Given the description of an element on the screen output the (x, y) to click on. 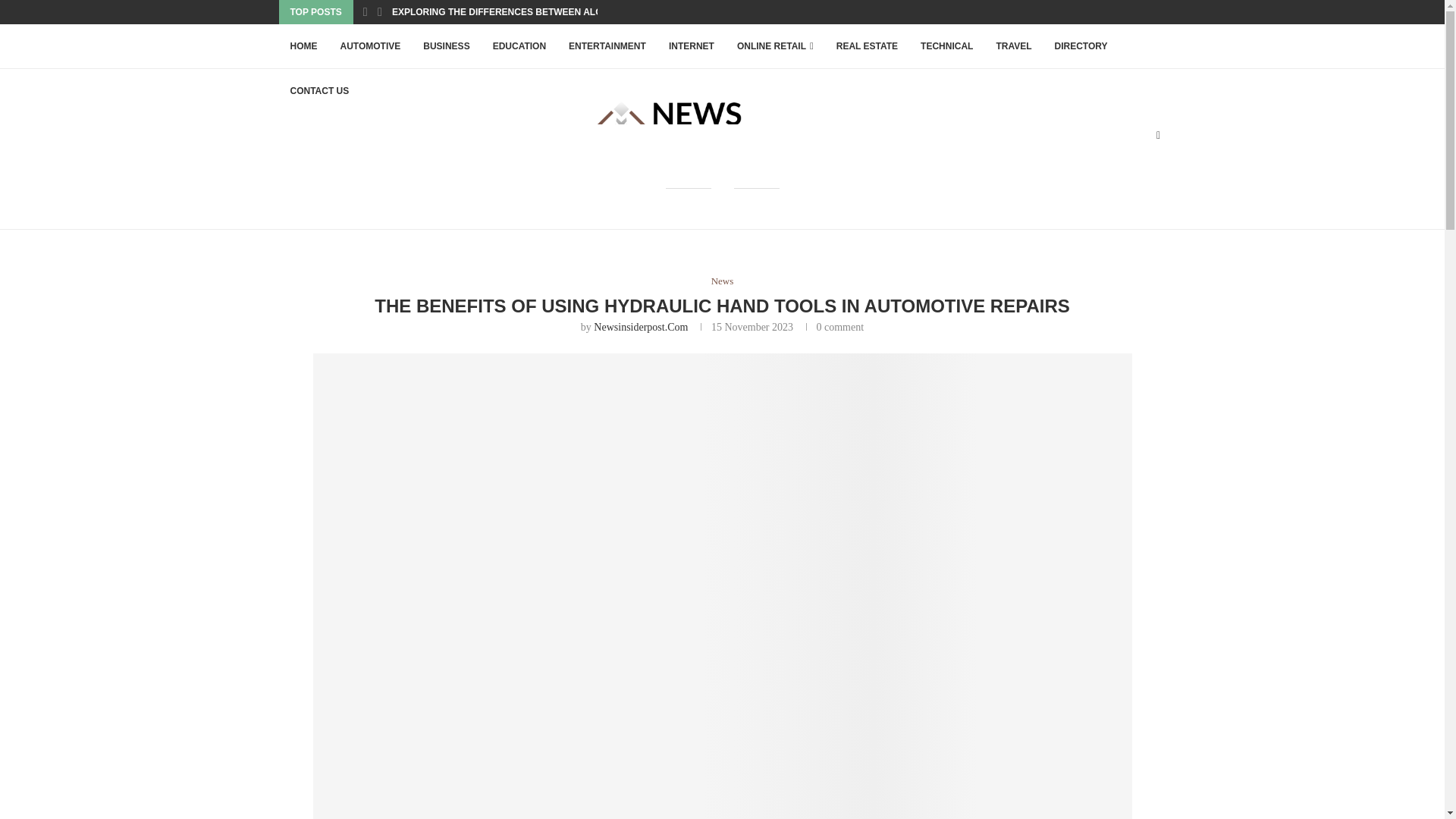
ENTERTAINMENT (607, 46)
TECHNICAL (946, 46)
Newsinsiderpost.Com (640, 326)
News (722, 281)
REAL ESTATE (866, 46)
HOME (304, 46)
AUTOMOTIVE (370, 46)
DIRECTORY (1081, 46)
CONTACT US (320, 90)
INTERNET (691, 46)
